Given the description of an element on the screen output the (x, y) to click on. 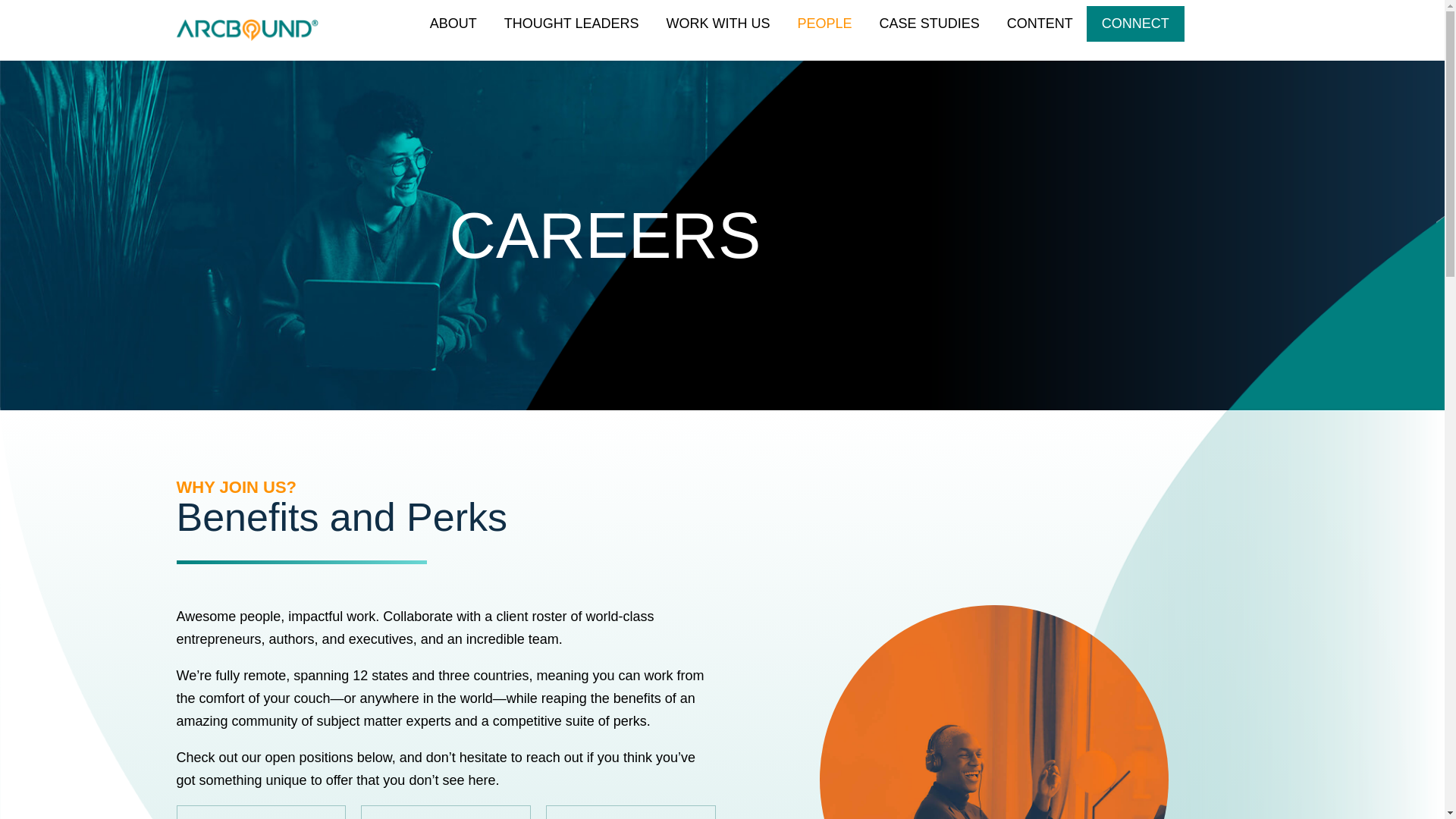
WORK WITH US (718, 23)
CASE STUDIES (929, 23)
PEOPLE (824, 23)
CONNECT (1135, 23)
ABOUT (453, 23)
CONTENT (1040, 23)
THOUGHT LEADERS (571, 23)
